Given the description of an element on the screen output the (x, y) to click on. 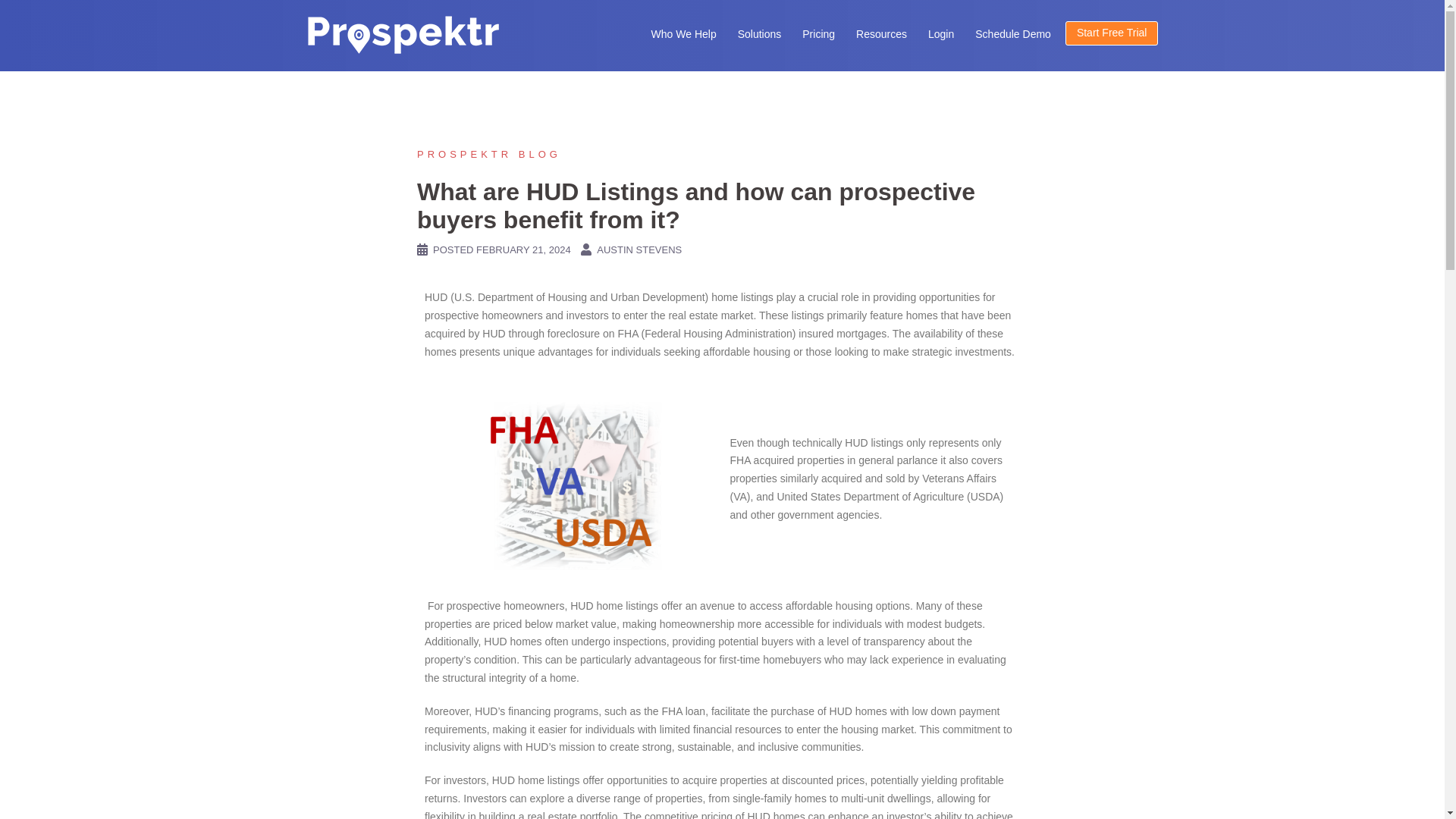
Start Free Trial (1112, 33)
Prospektr.ai (402, 34)
Login (940, 34)
FEBRUARY 21, 2024 (523, 249)
AUSTIN STEVENS (638, 249)
Pricing (818, 34)
Who We Help (683, 34)
Solutions (759, 34)
PROSPEKTR BLOG (488, 153)
Prospektr Blog (488, 153)
Resources (881, 34)
Schedule Demo (1013, 34)
